Given the description of an element on the screen output the (x, y) to click on. 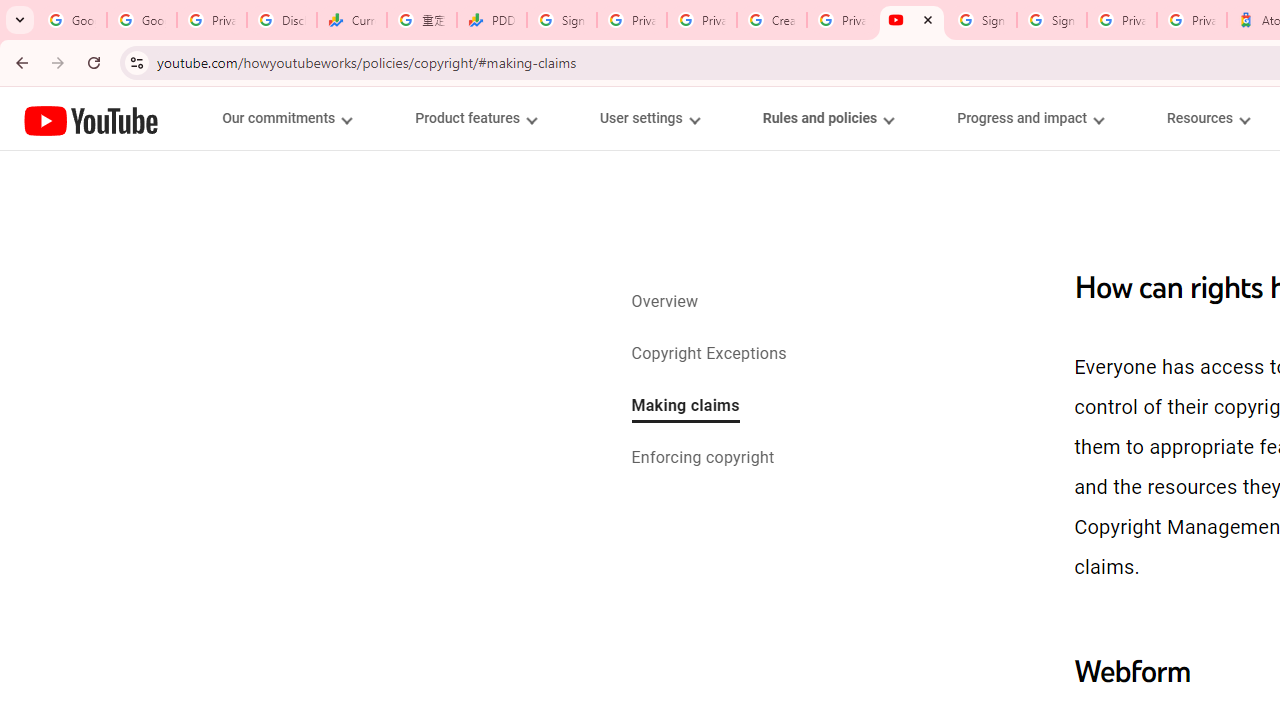
Sign in - Google Accounts (561, 20)
Create your Google Account (772, 20)
Sign in - Google Accounts (982, 20)
Making claims (685, 407)
Resources menupopup (1208, 118)
Forward (57, 62)
How YouTube Works (91, 118)
